Given the description of an element on the screen output the (x, y) to click on. 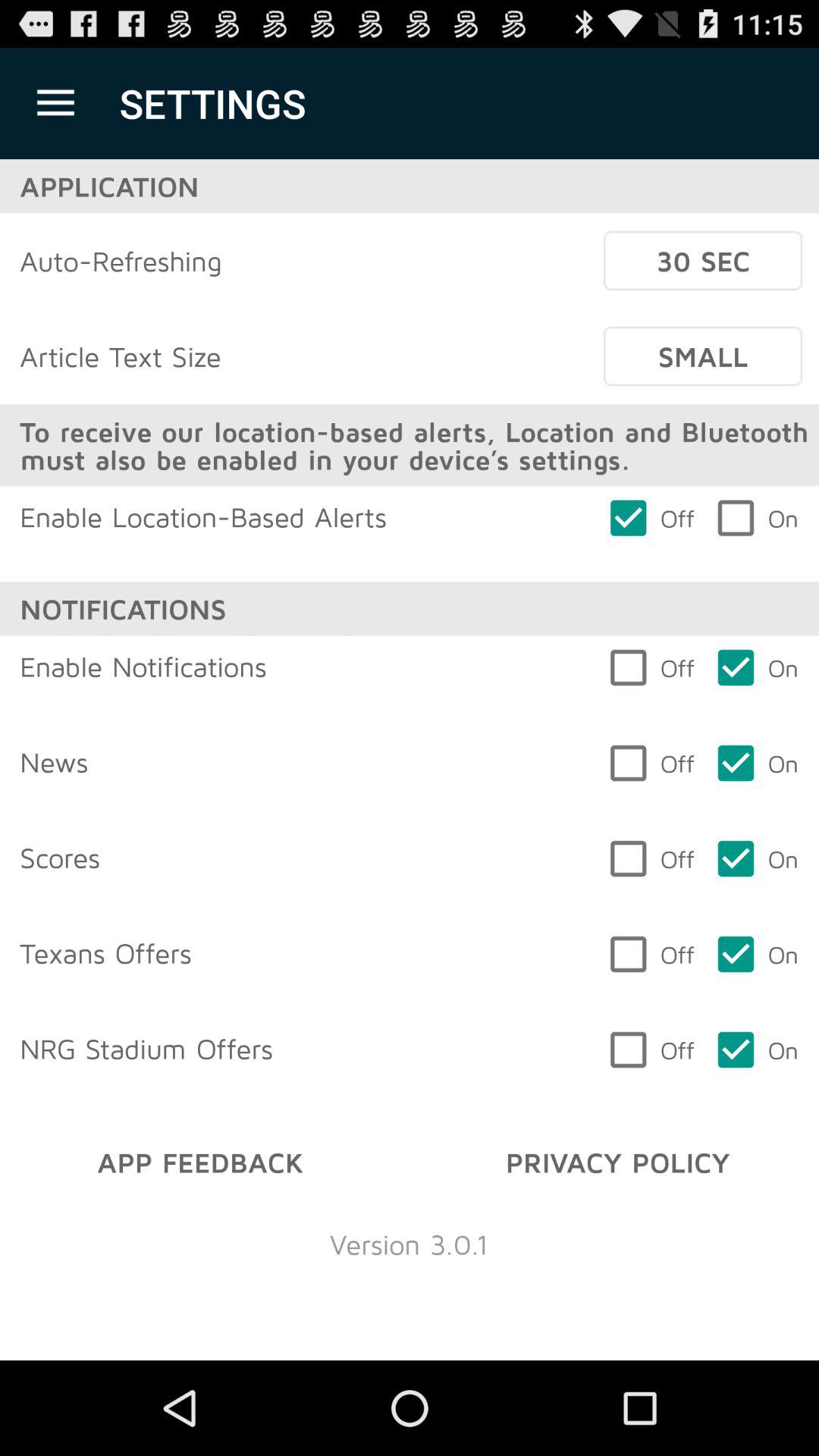
select app to the left of the settings item (55, 103)
